Given the description of an element on the screen output the (x, y) to click on. 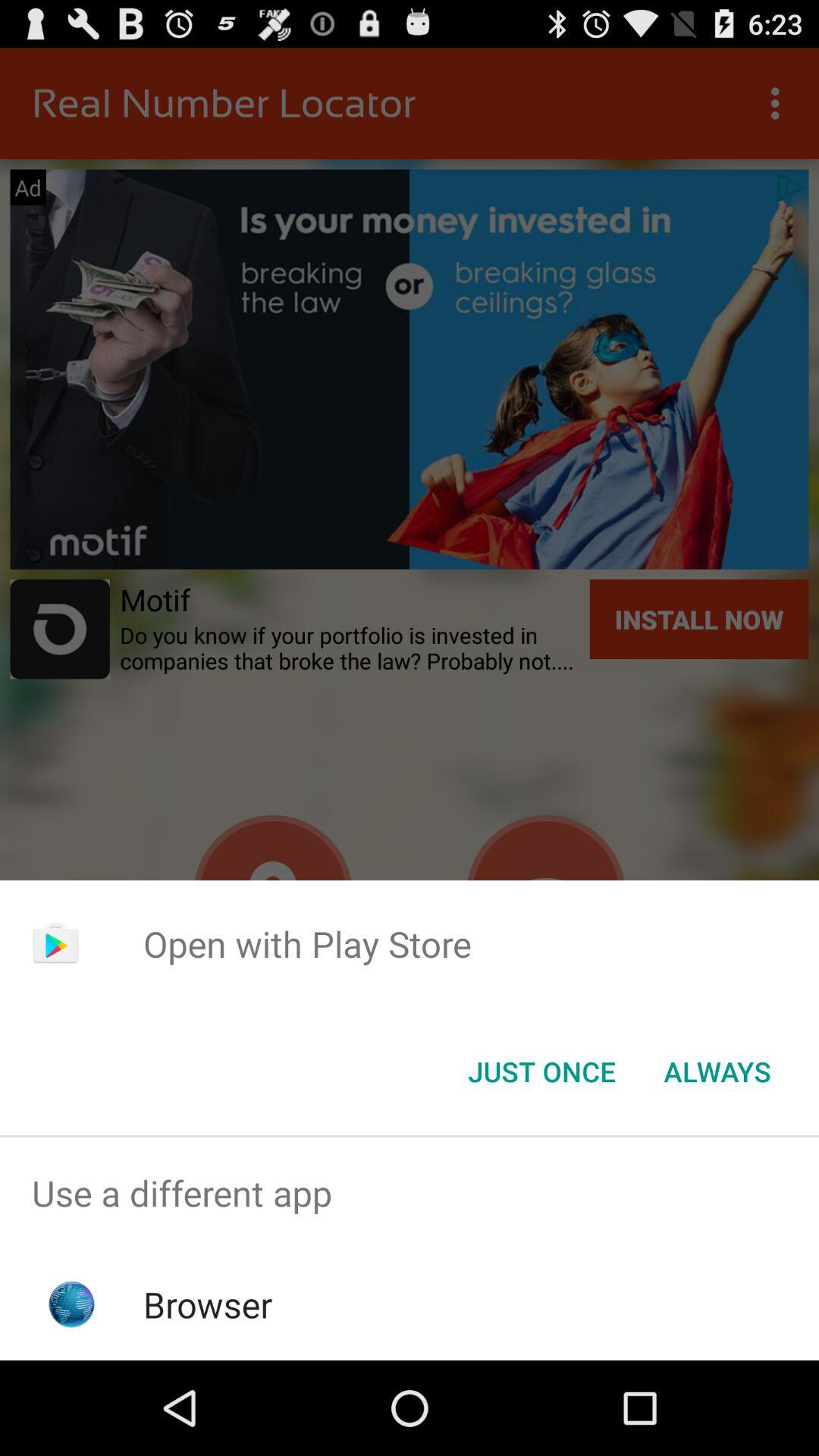
select the button at the bottom right corner (717, 1071)
